Given the description of an element on the screen output the (x, y) to click on. 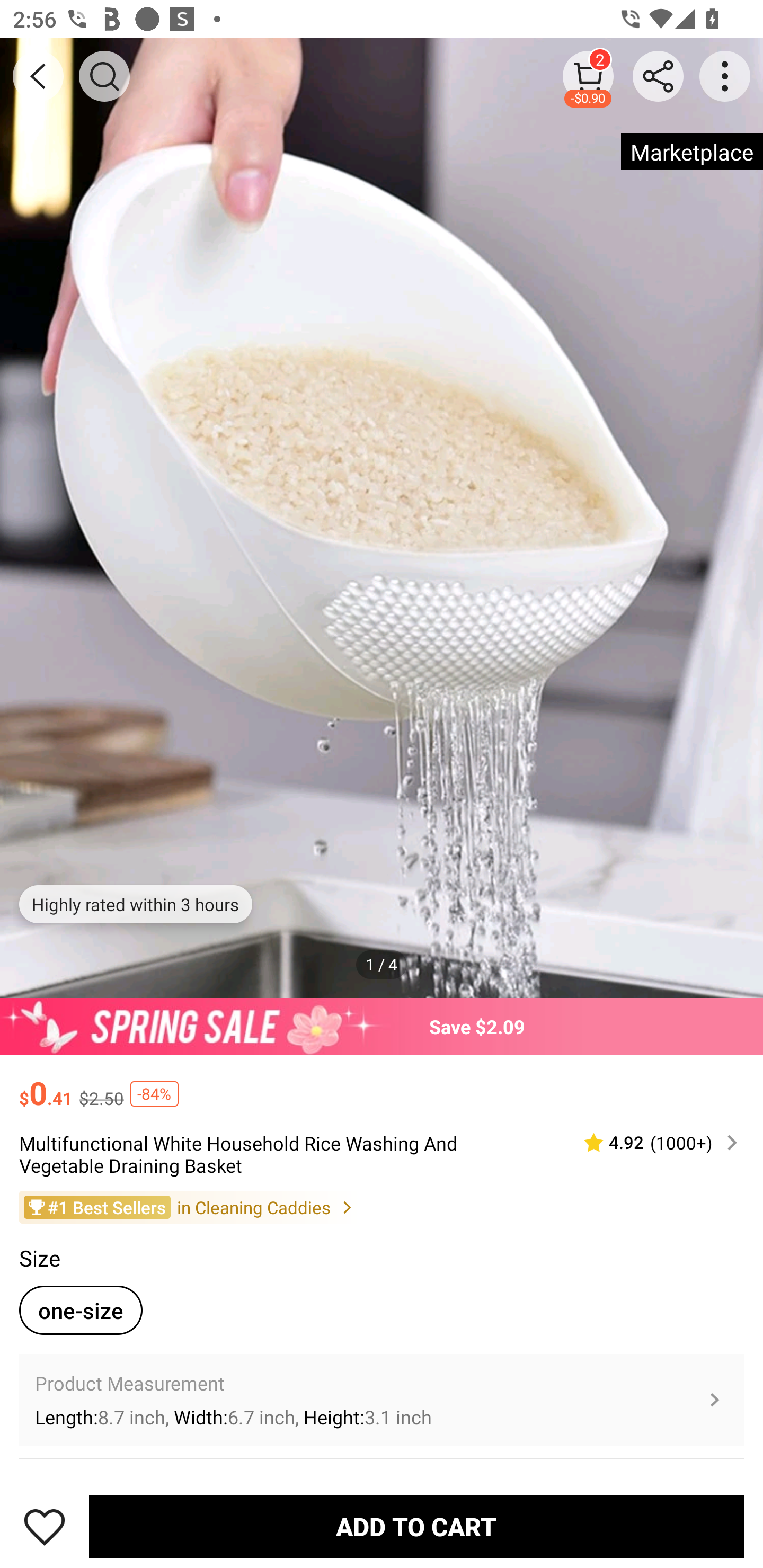
BACK (38, 75)
2 -$0.90 (588, 75)
1 / 4 (381, 964)
Save $2.09 (381, 1026)
$0.41 $2.50 -84% (381, 1084)
4.92 (1000‎+) (653, 1142)
#1 Best Sellers in Cleaning Caddies (381, 1206)
Size (39, 1258)
one-size one-sizeselected option (80, 1309)
ADD TO CART (416, 1526)
Save (44, 1526)
